Given the description of an element on the screen output the (x, y) to click on. 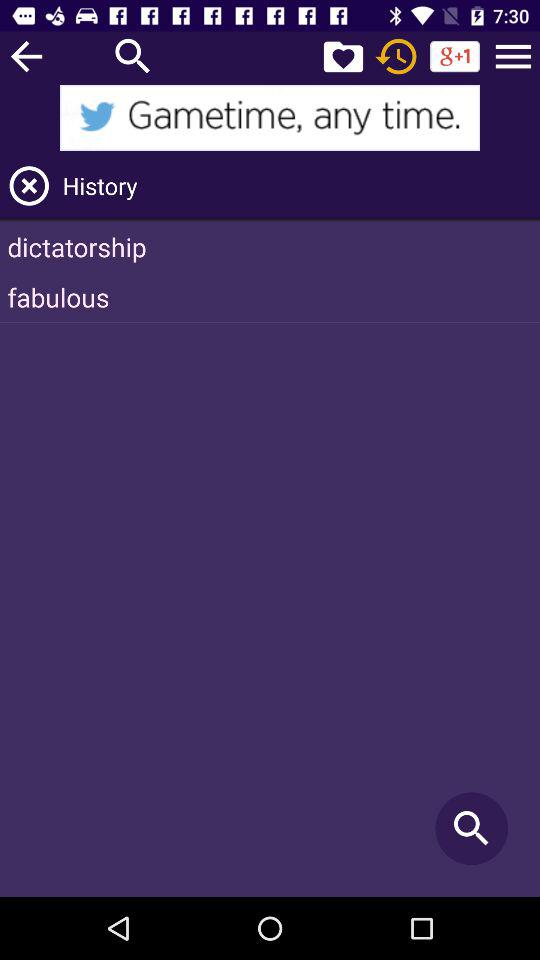
click the history item (298, 185)
